Given the description of an element on the screen output the (x, y) to click on. 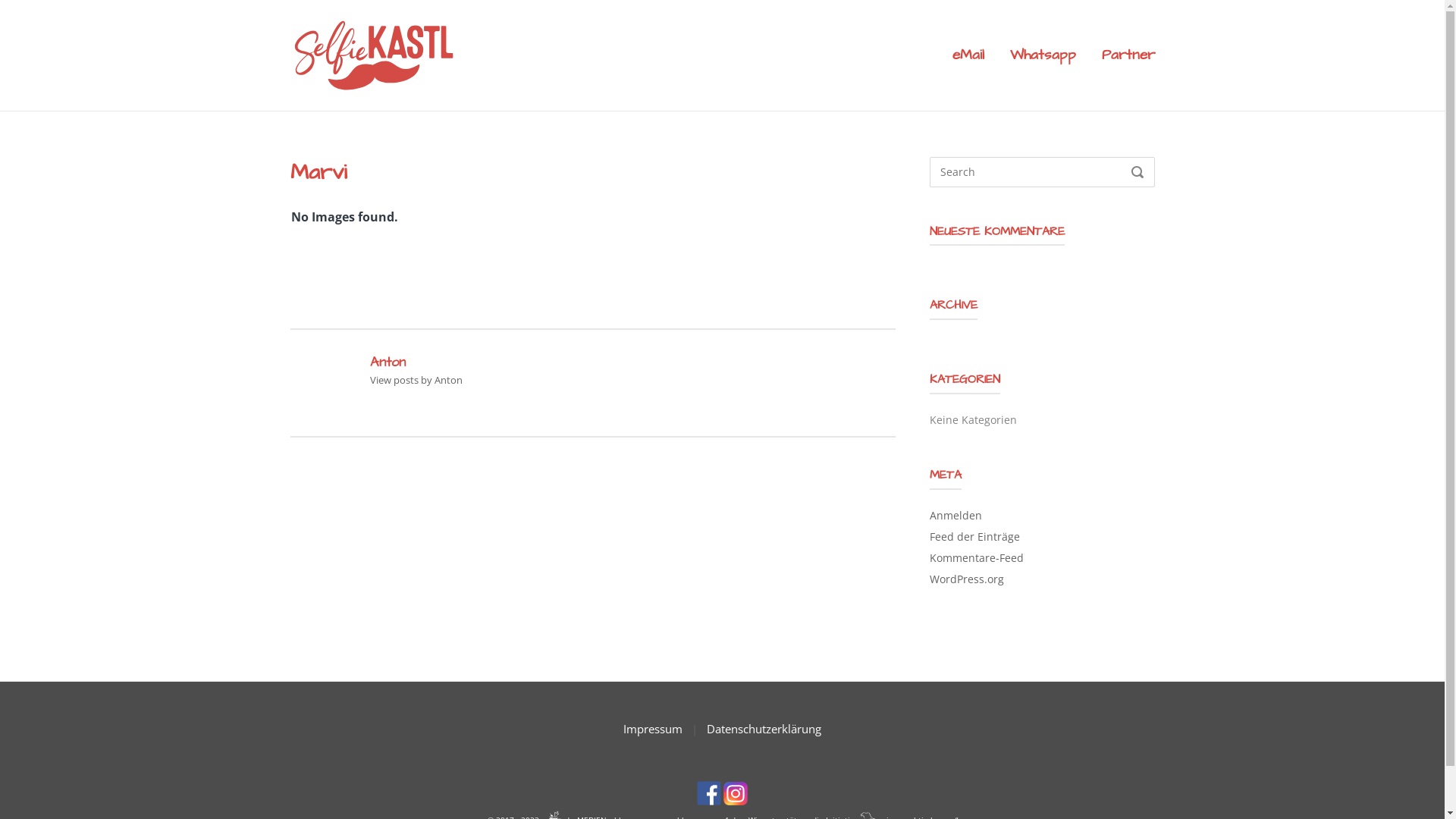
eMail Element type: text (968, 54)
Home Element type: text (372, 53)
Partner Element type: text (1127, 54)
View posts by Anton Element type: text (416, 379)
Whatsapp Element type: text (1043, 54)
Impressum Element type: text (652, 727)
Anmelden Element type: text (955, 515)
Kommentare-Feed Element type: text (976, 557)
SEARCH Element type: text (1136, 172)
WordPress.org Element type: text (966, 578)
